Given the description of an element on the screen output the (x, y) to click on. 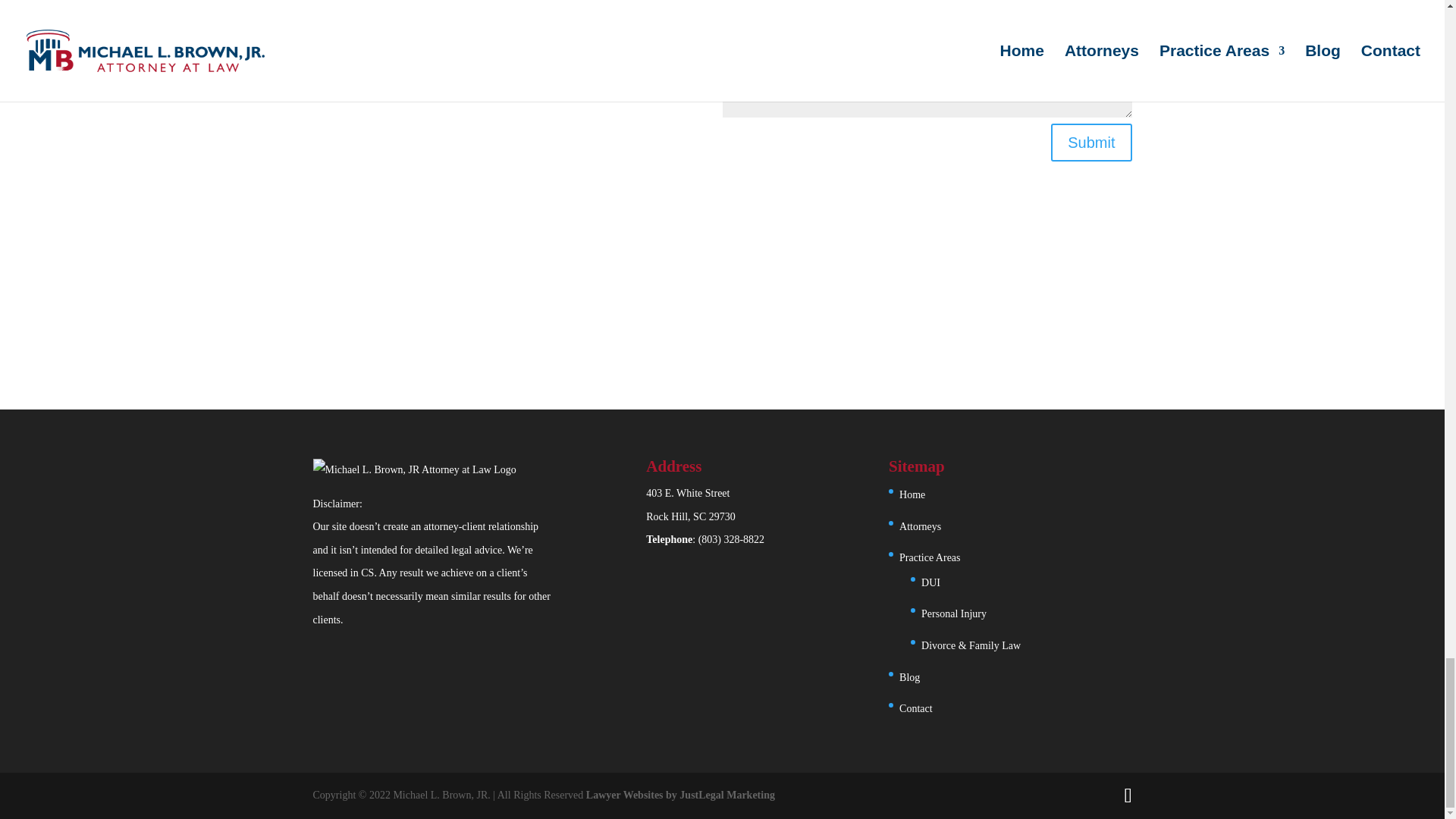
DUI (930, 582)
Blog (909, 677)
Submit (1091, 142)
Contact (916, 708)
Practice Areas (929, 557)
Personal Injury (690, 504)
Home (954, 613)
Attorneys (911, 494)
